Given the description of an element on the screen output the (x, y) to click on. 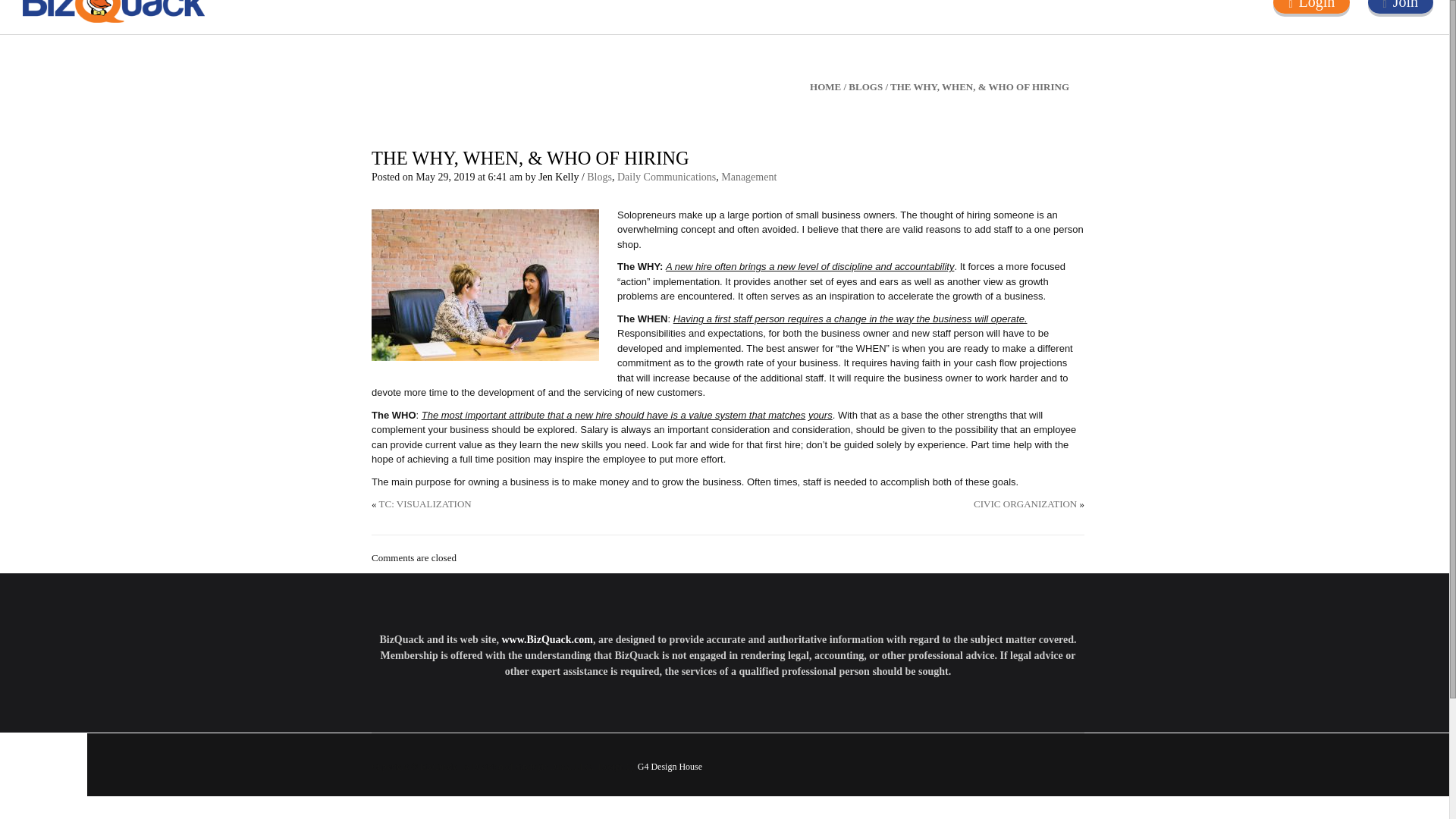
Jen Kelly (558, 176)
Daily Communications (666, 176)
www.BizQuack.com (546, 639)
Home (309, 12)
Posts by Jen Kelly (558, 176)
G4 Design House (669, 766)
Login (1316, 4)
Management (748, 176)
HOME (825, 86)
BLOGS (865, 86)
